Given the description of an element on the screen output the (x, y) to click on. 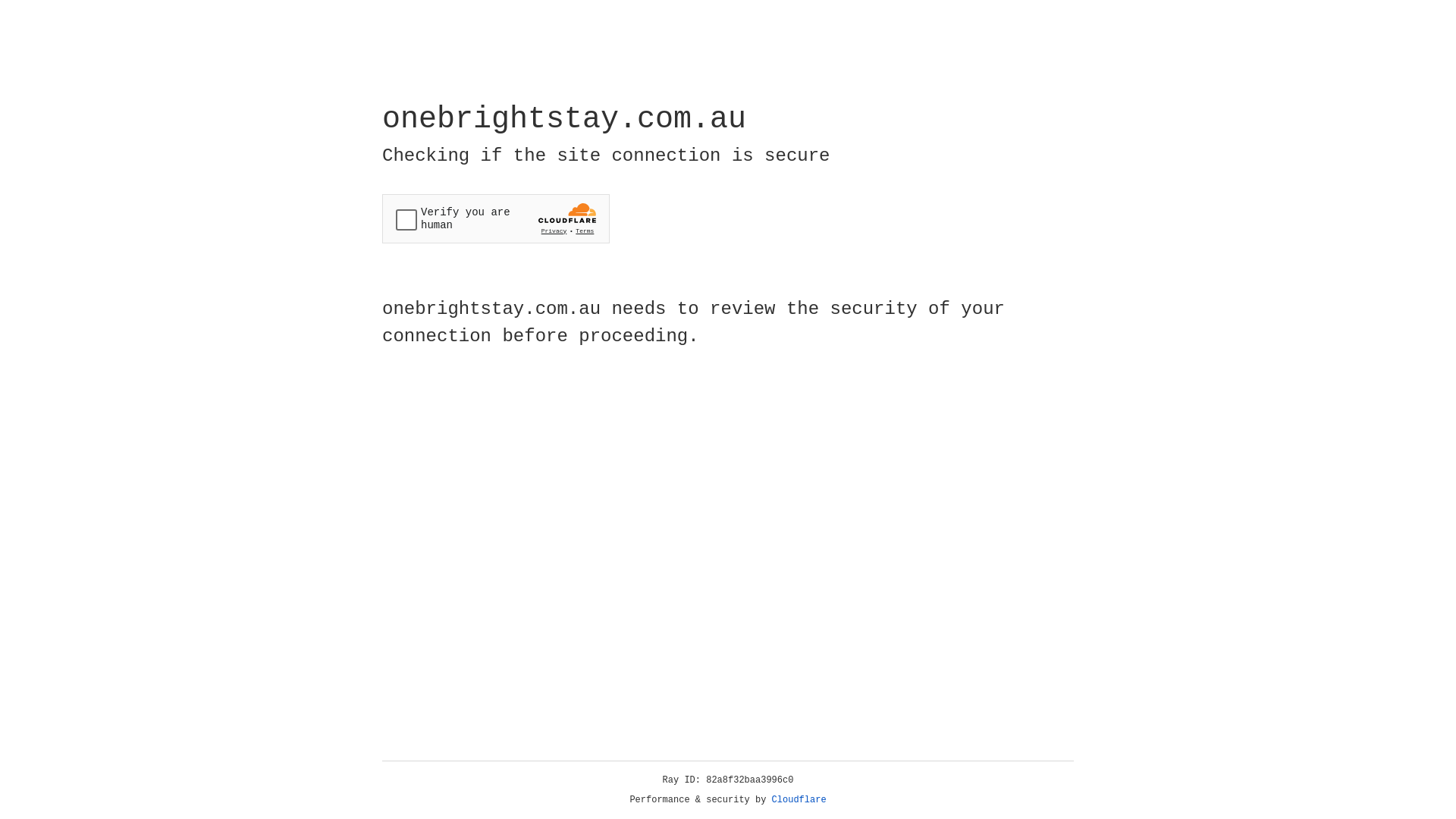
Widget containing a Cloudflare security challenge Element type: hover (495, 218)
Cloudflare Element type: text (798, 799)
